Given the description of an element on the screen output the (x, y) to click on. 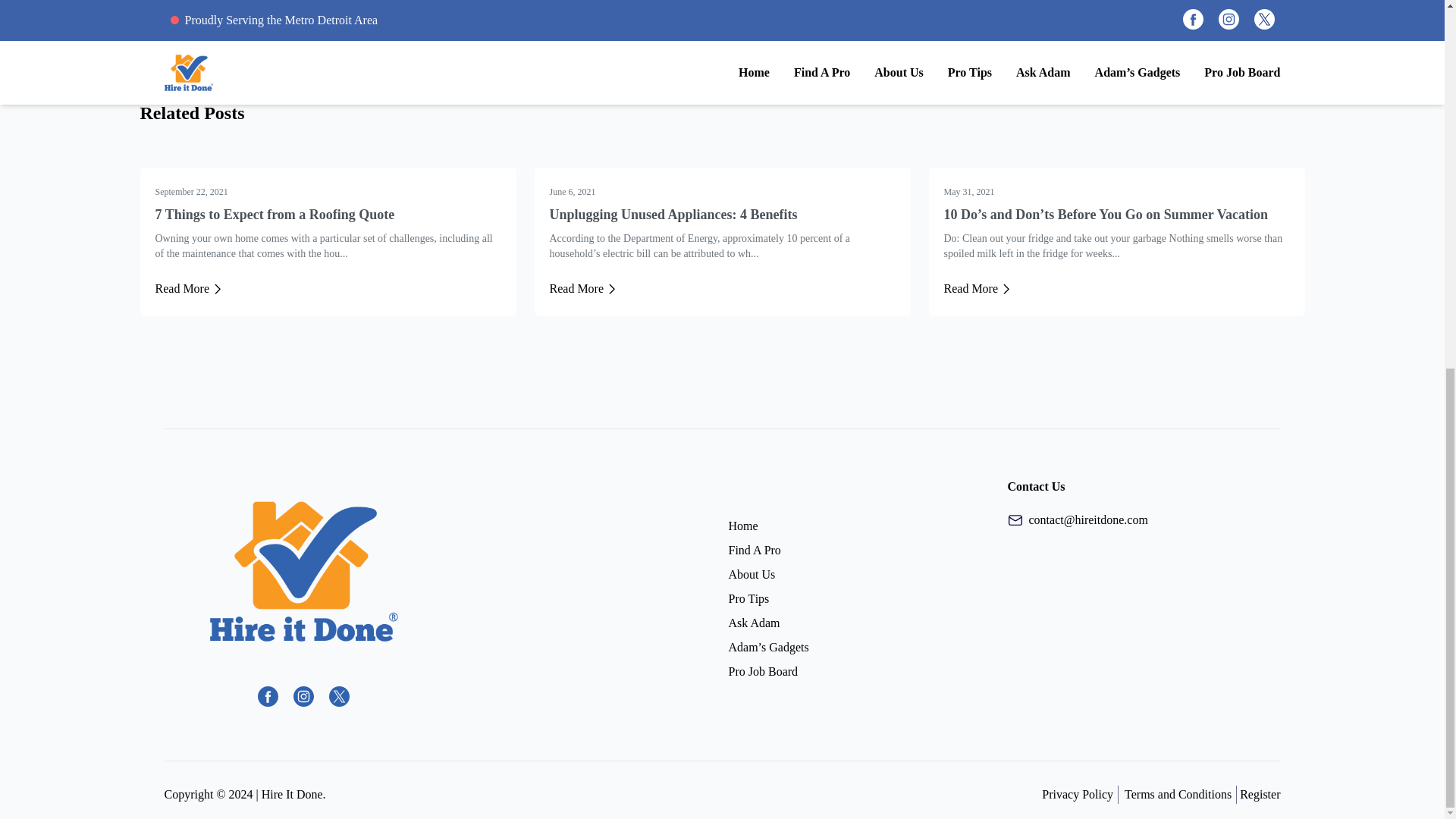
About Us (751, 574)
Pro Tips (748, 598)
admin (175, 32)
Read More (582, 289)
Privacy Policy (1078, 794)
Ask Adam (753, 622)
Read More (977, 289)
Terms and Conditions (1178, 794)
Register (1259, 793)
Read More (188, 289)
